Given the description of an element on the screen output the (x, y) to click on. 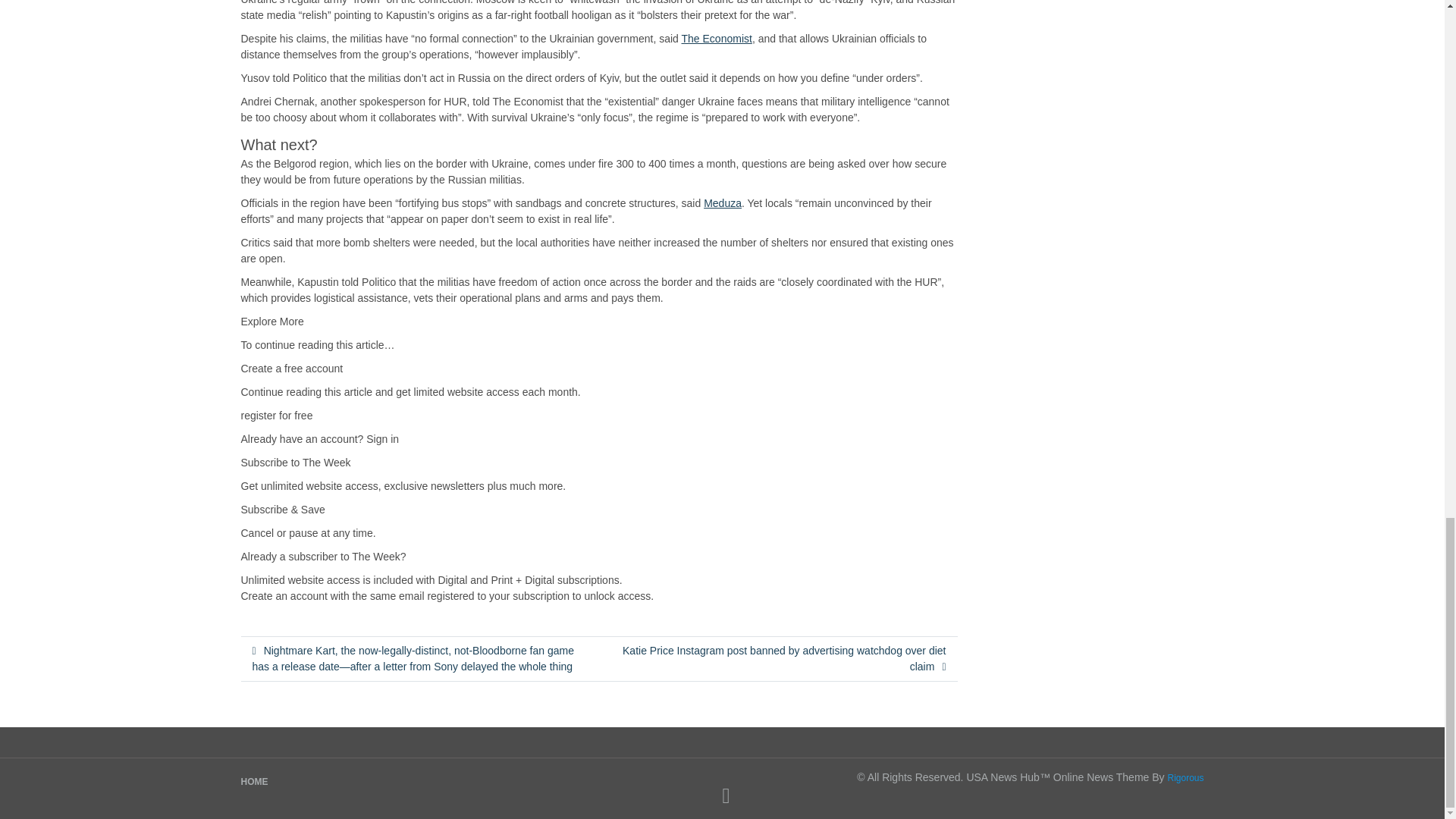
The Economist (716, 38)
Meduza (722, 203)
Rigorous (1185, 777)
HOME (254, 781)
